Given the description of an element on the screen output the (x, y) to click on. 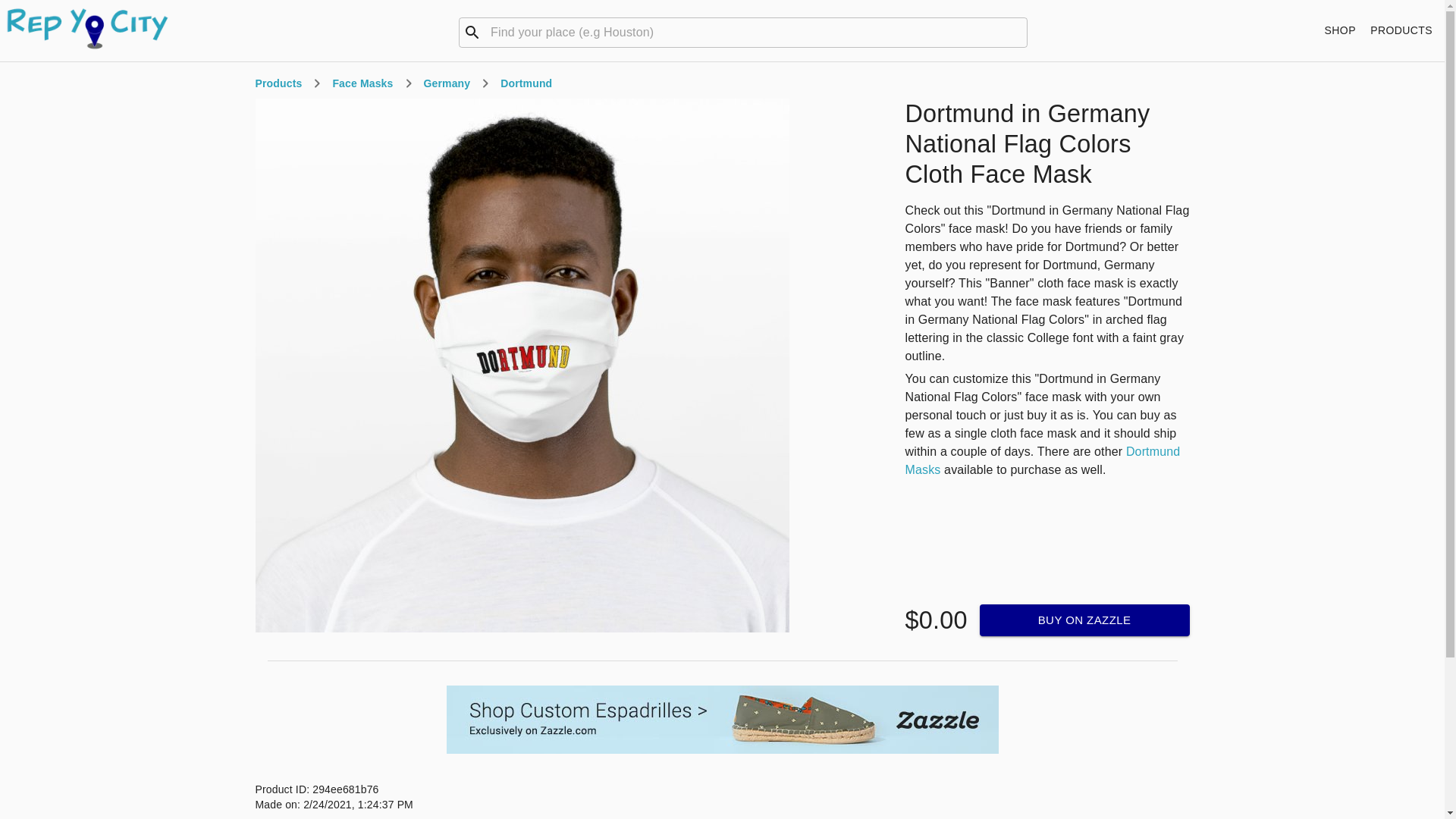
Dortmund (525, 82)
Dortmund Masks (1042, 460)
SHOP (1340, 30)
BUY ON ZAZZLE (1084, 620)
PRODUCTS (1401, 30)
Face Masks (362, 82)
Germany (446, 82)
Products (277, 82)
